Given the description of an element on the screen output the (x, y) to click on. 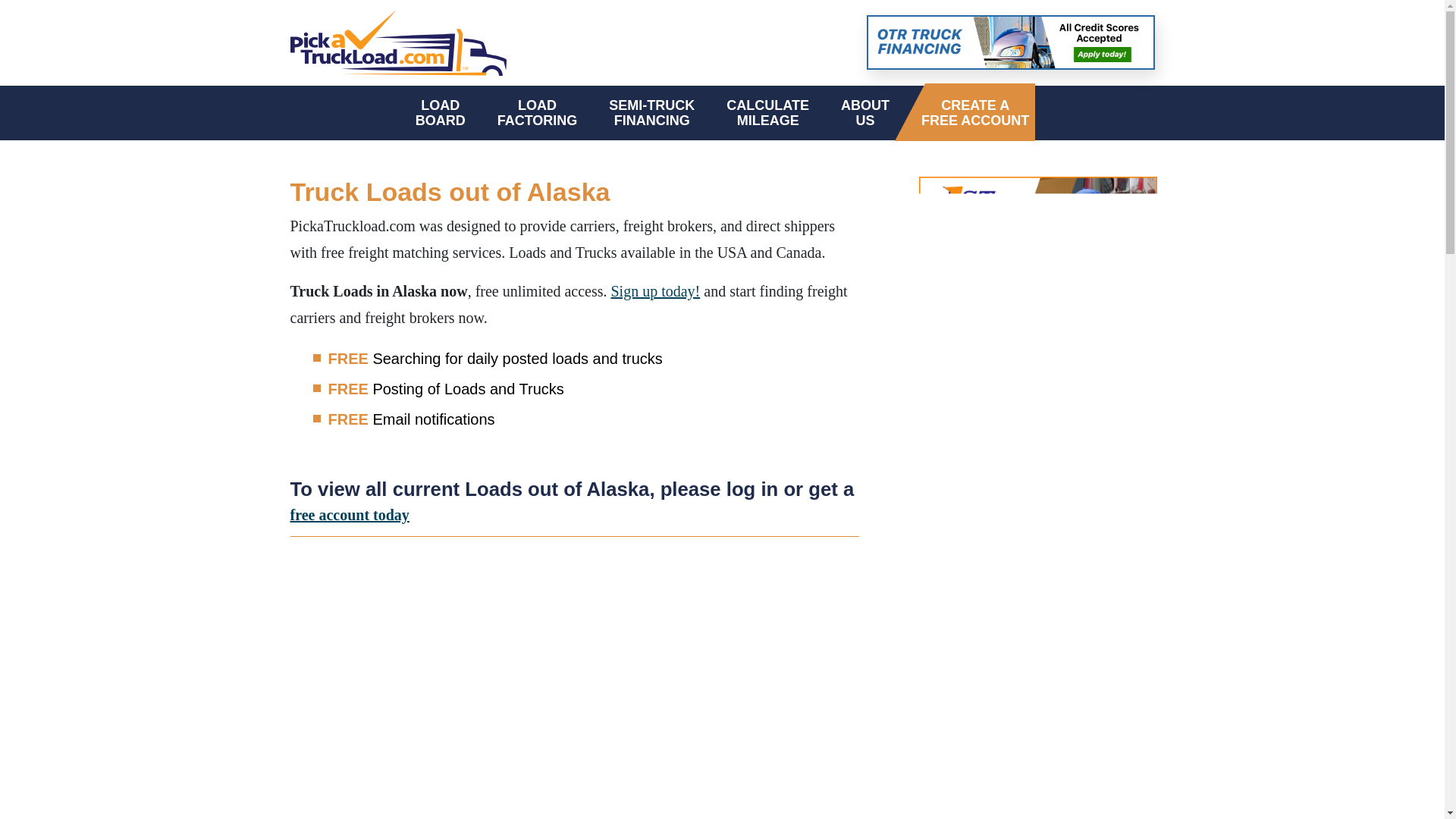
Sign up today! (767, 112)
free account today (655, 290)
